Given the description of an element on the screen output the (x, y) to click on. 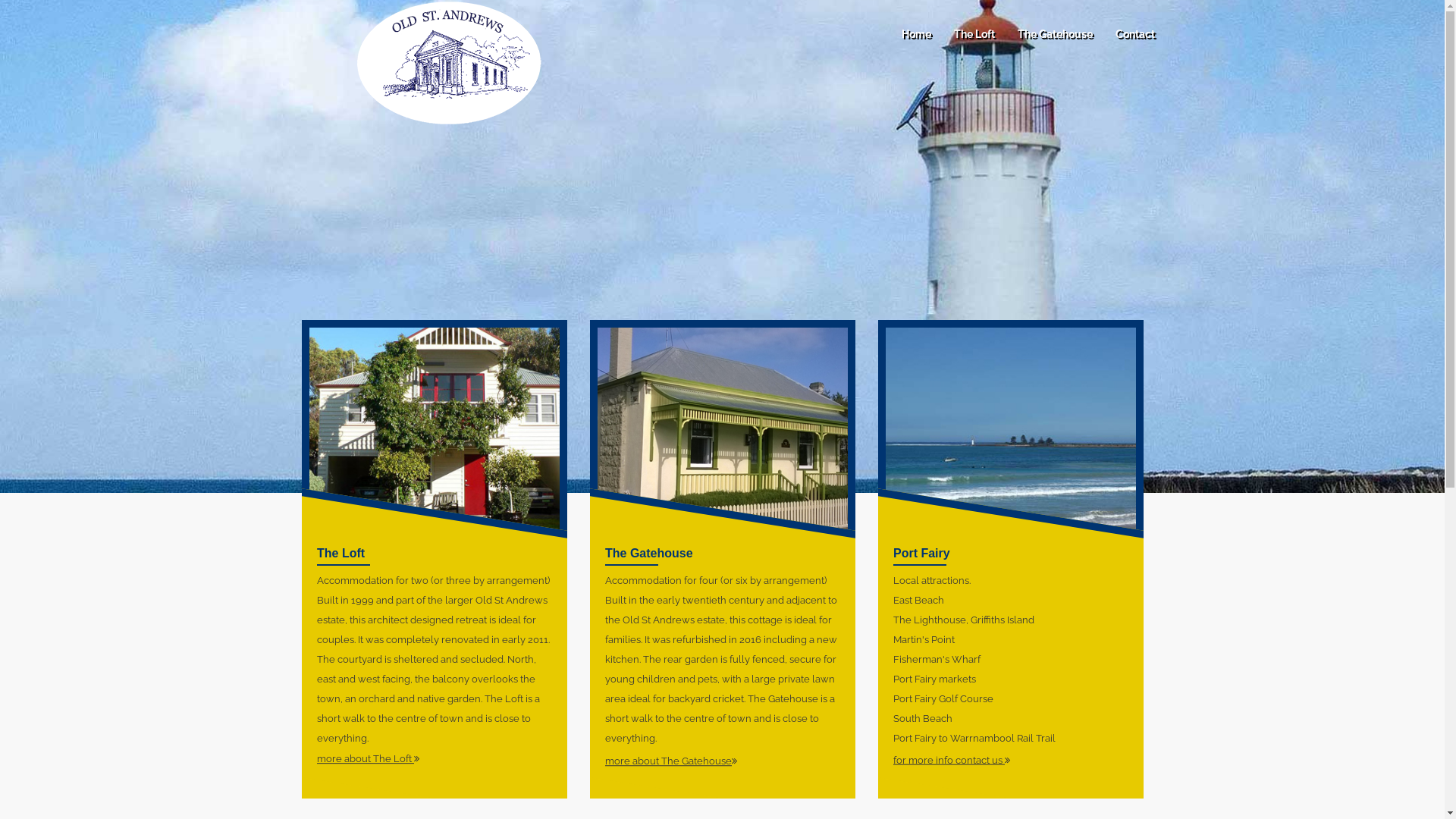
Contact Element type: text (1135, 34)
more about The Loft Element type: text (367, 758)
The Gatehouse Element type: text (1054, 34)
more about The Gatehouse Element type: text (671, 761)
The Loft Element type: text (973, 34)
for more info contact us Element type: text (951, 759)
Home Element type: text (916, 34)
